Given the description of an element on the screen output the (x, y) to click on. 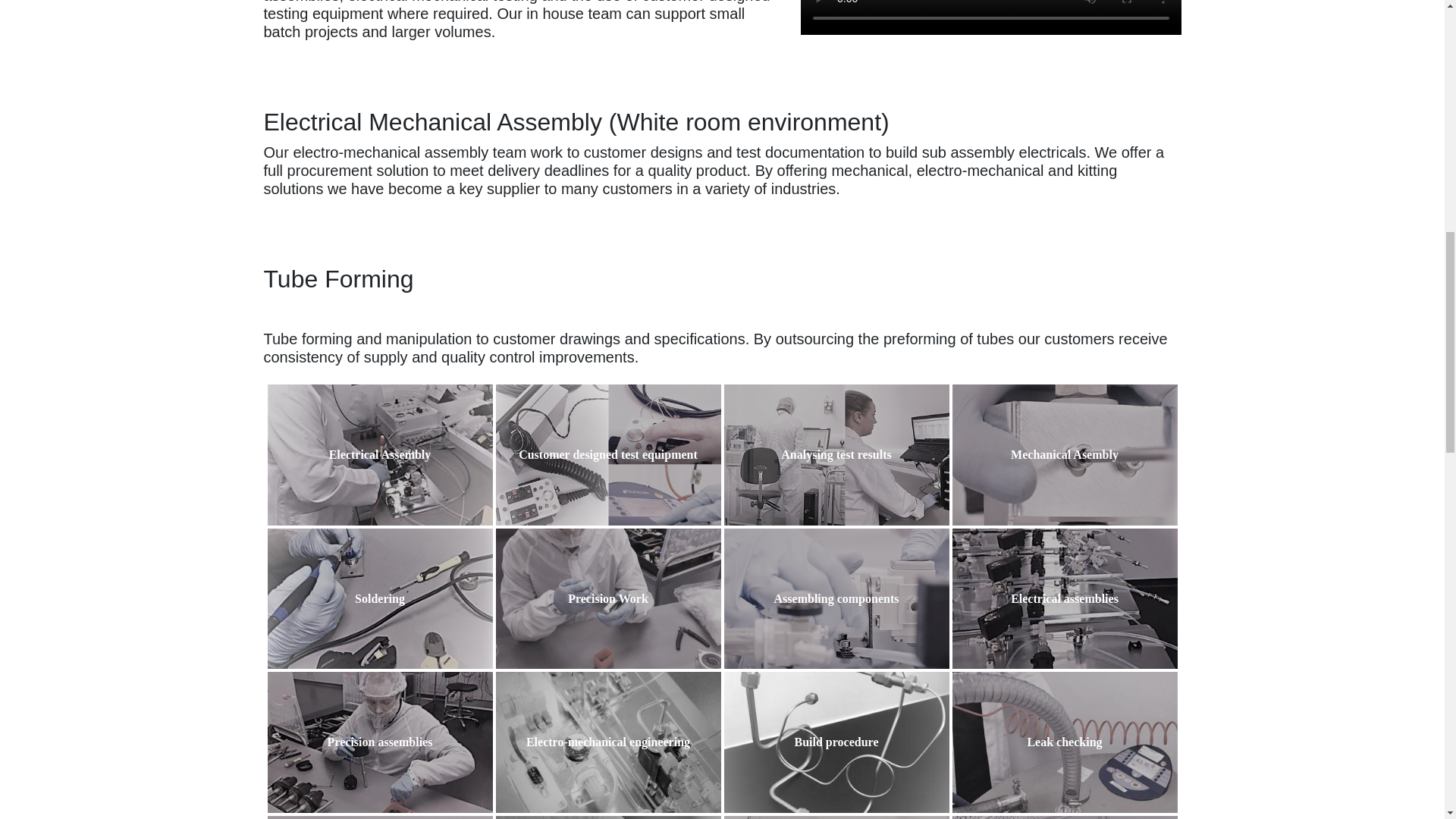
Electrical assemblies (1064, 598)
Leak checking (1064, 742)
Precision assemblies (379, 742)
Analysing test results (836, 454)
Build procedure (836, 742)
Small Assembly leak checking (379, 817)
Electrical Assembly testing (608, 817)
Sub assembly (1064, 817)
Precision Work (608, 598)
Electro-mechanical engineering (608, 742)
Assembling components (836, 598)
Tube forming and manipulation (836, 817)
Mechanical Asembly (1064, 454)
Customer designed test equipment (608, 454)
Electrical Assembly (379, 454)
